Given the description of an element on the screen output the (x, y) to click on. 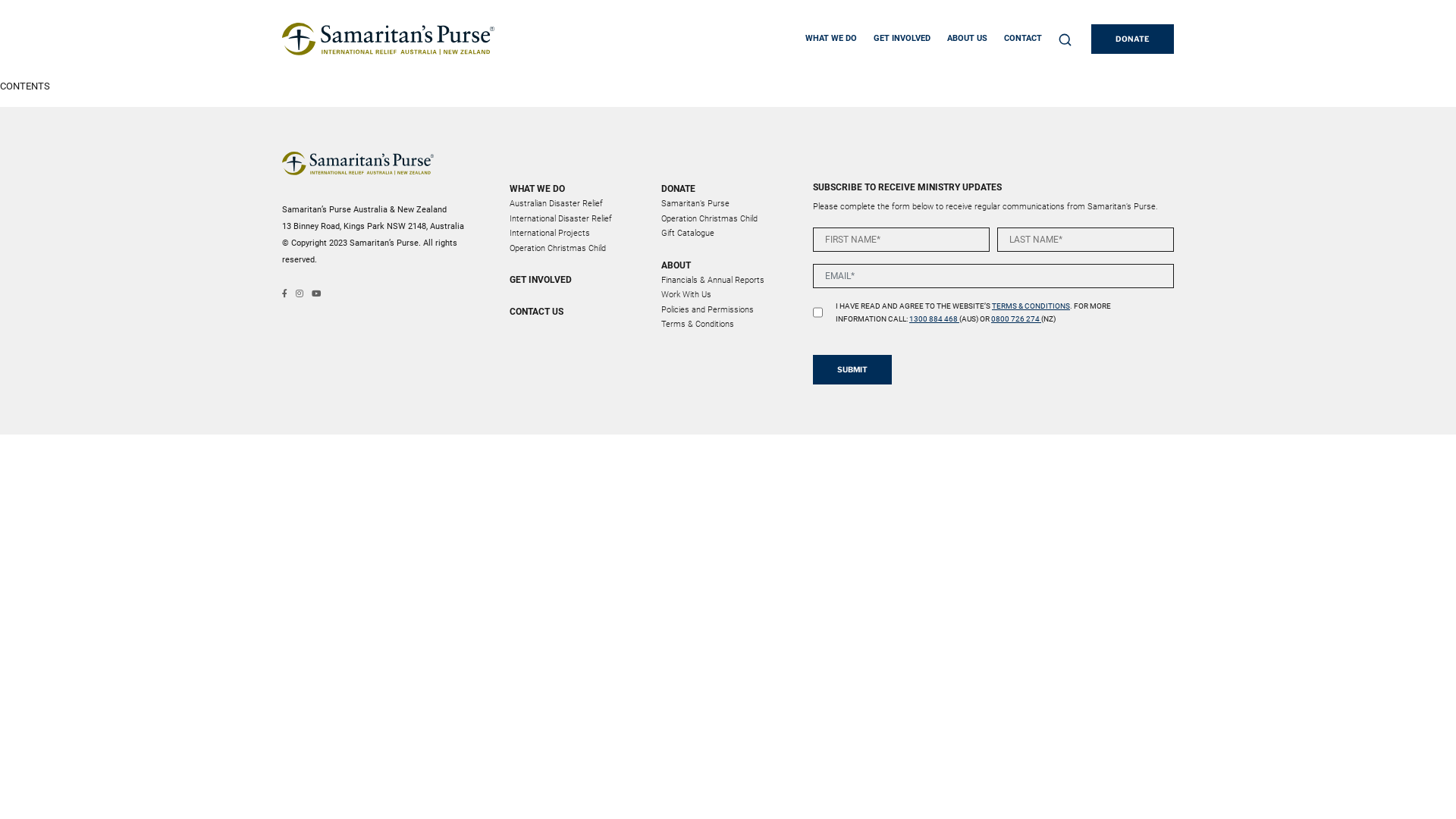
International Disaster Relief Element type: text (560, 218)
DONATE Element type: text (1132, 38)
GET INVOLVED Element type: text (901, 38)
GET INVOLVED Element type: text (576, 279)
DONATE Element type: text (727, 188)
Operation Christmas Child Element type: text (709, 218)
ABOUT Element type: text (727, 264)
Work With Us Element type: text (686, 294)
Terms & Conditions Element type: text (697, 324)
WHAT WE DO Element type: text (830, 38)
ABOUT US Element type: text (967, 38)
Gift Catalogue Element type: text (687, 233)
1300 884 468 Element type: text (934, 318)
Policies and Permissions Element type: text (707, 309)
TERMS & CONDITIONS Element type: text (1030, 305)
CONTACT Element type: text (1022, 38)
Financials & Annual Reports Element type: text (712, 279)
WHAT WE DO Element type: text (576, 188)
International Projects Element type: text (549, 233)
CONTACT US Element type: text (576, 311)
Australian Disaster Relief Element type: text (555, 203)
SUBMIT Element type: text (851, 369)
0800 726 274 Element type: text (1016, 318)
Operation Christmas Child Element type: text (557, 247)
